Given the description of an element on the screen output the (x, y) to click on. 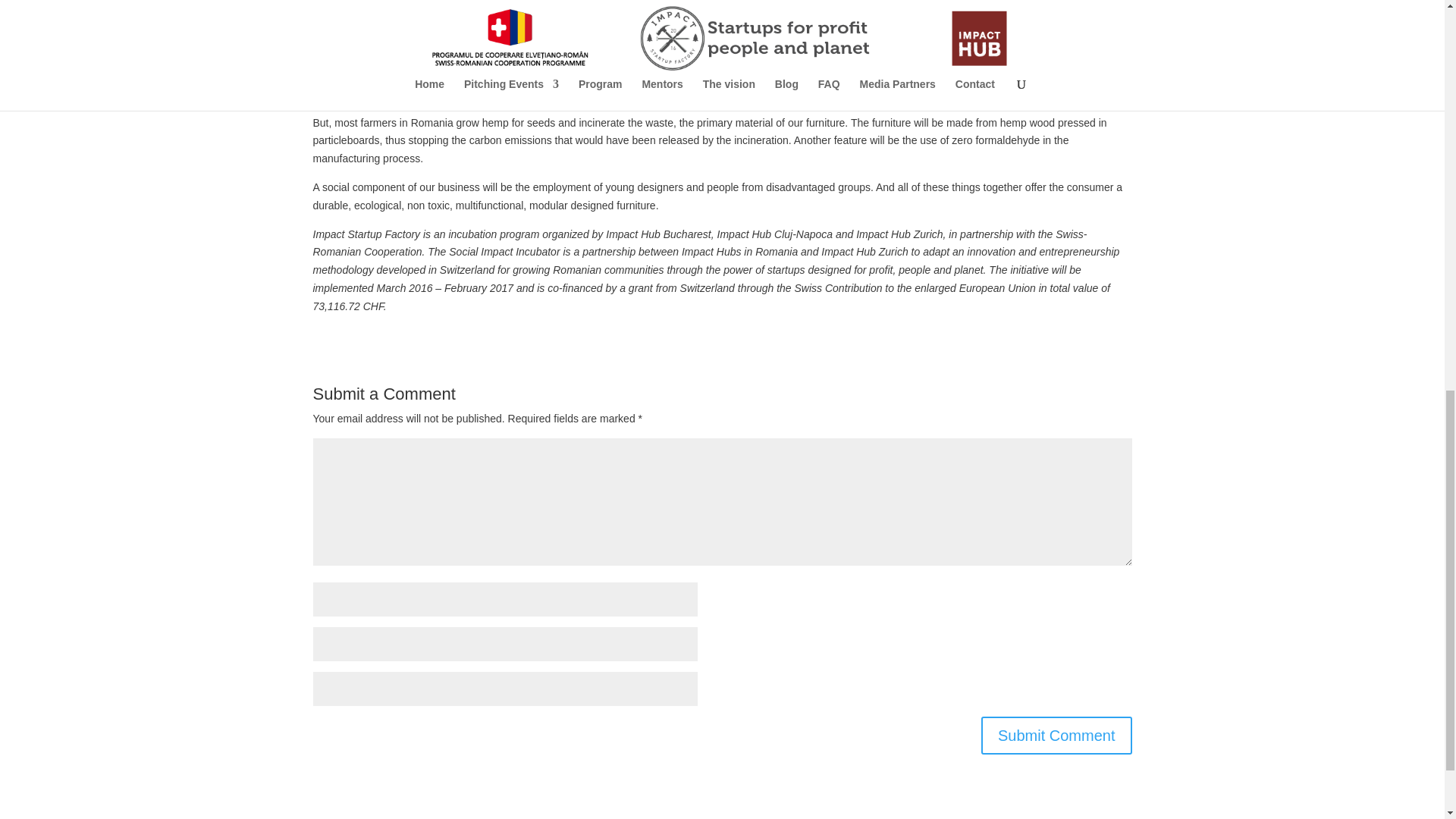
Submit Comment (1056, 735)
Submit Comment (1056, 735)
